Given the description of an element on the screen output the (x, y) to click on. 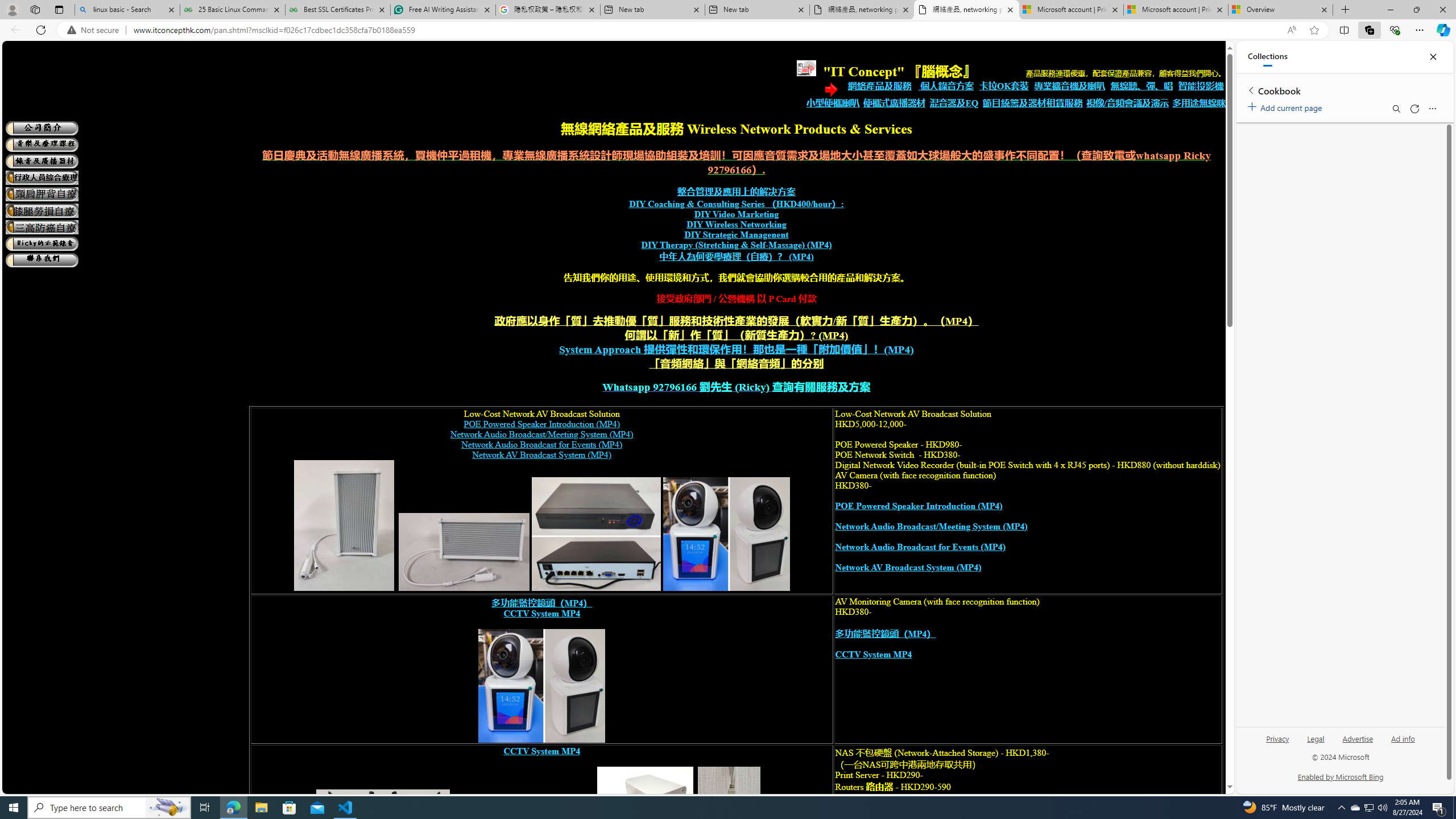
Not secure (95, 29)
More options menu (1432, 108)
